Given the description of an element on the screen output the (x, y) to click on. 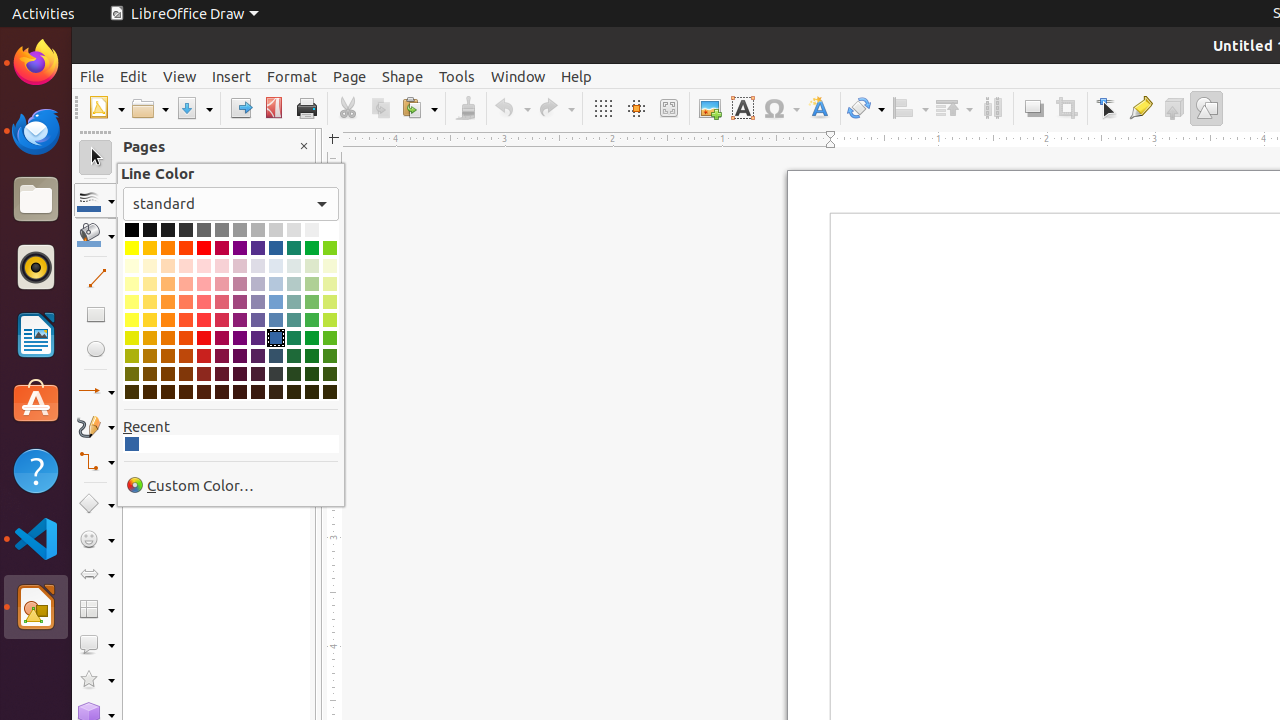
Light Gray 2 Element type: list-item (258, 230)
Light Lime 3 Element type: list-item (330, 284)
Light Red 2 Element type: list-item (204, 302)
Dark Orange 1 Element type: list-item (168, 338)
LibreOffice Draw Element type: menu (183, 13)
